Given the description of an element on the screen output the (x, y) to click on. 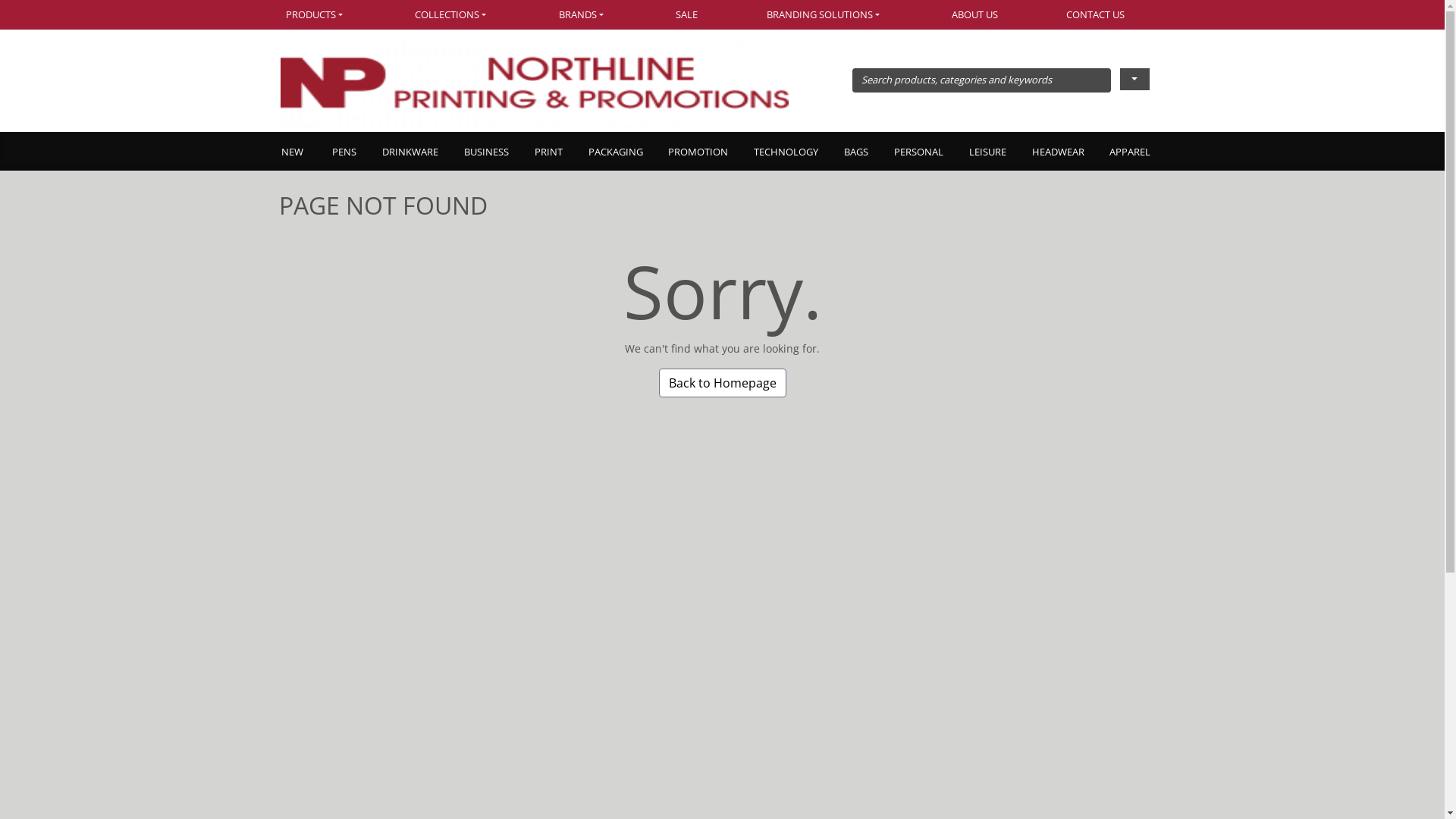
BUSINESS Element type: text (485, 152)
TECHNOLOGY Element type: text (785, 152)
PERSONAL Element type: text (917, 152)
PACKAGING Element type: text (614, 152)
BRANDS Element type: text (582, 14)
HEADWEAR Element type: text (1057, 152)
DRINKWARE Element type: text (409, 152)
BAGS Element type: text (855, 152)
PRINT Element type: text (547, 152)
  Element type: text (1134, 79)
COLLECTIONS Element type: text (452, 14)
NEW Element type: text (299, 152)
SALE Element type: text (687, 14)
BRANDING SOLUTIONS Element type: text (824, 14)
Back to Homepage Element type: text (721, 382)
LEISURE Element type: text (986, 152)
CONTACT US Element type: text (1095, 14)
PROMOTION Element type: text (697, 152)
APPAREL Element type: text (1129, 152)
PRODUCTS Element type: text (330, 14)
PENS Element type: text (344, 152)
ABOUT US Element type: text (975, 14)
